Given the description of an element on the screen output the (x, y) to click on. 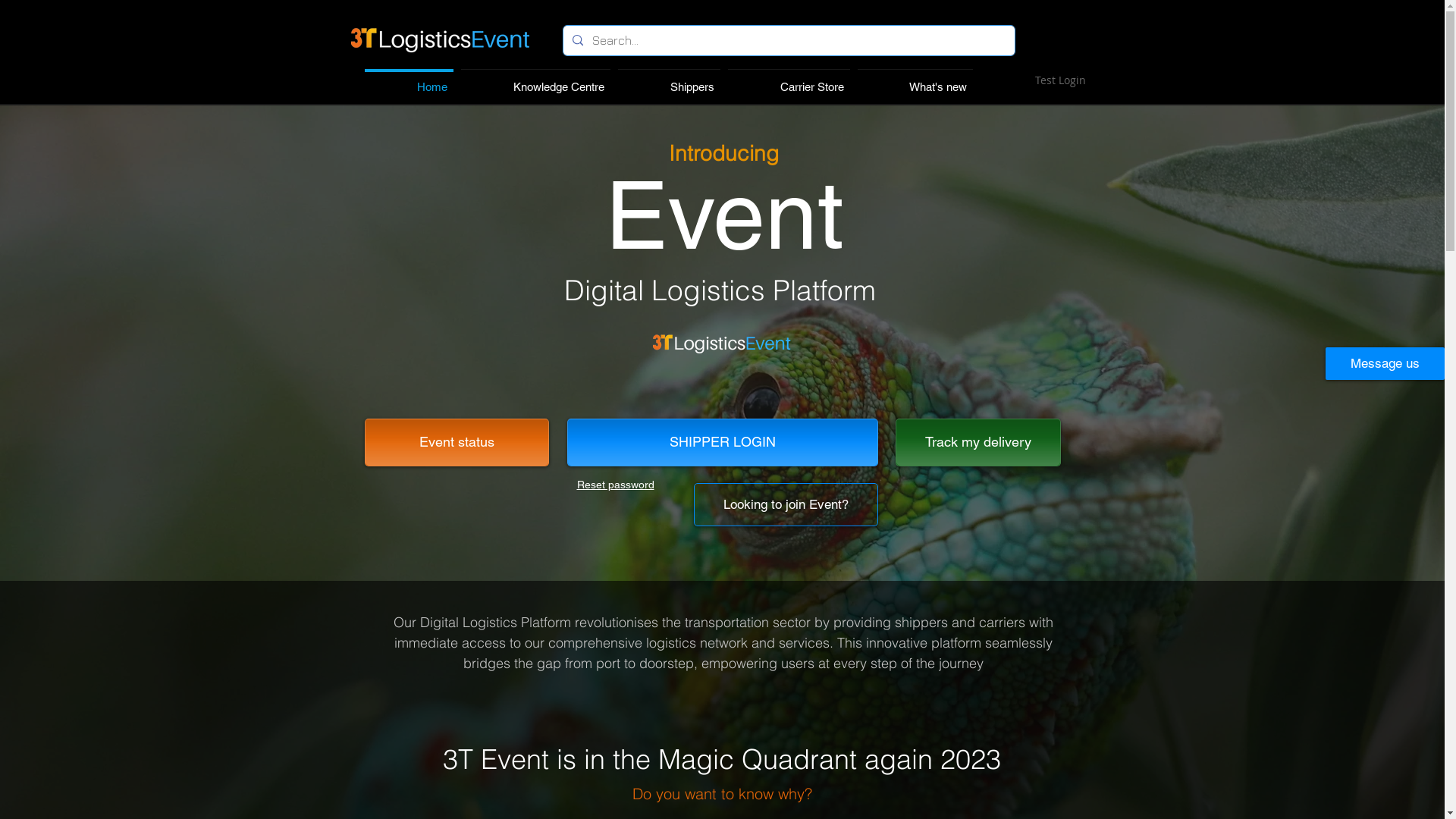
Message us Element type: text (1384, 363)
Home Element type: text (408, 80)
Track my delivery Element type: text (977, 442)
Looking to join Event? Element type: text (785, 504)
What's new Element type: text (914, 80)
Event status Element type: text (456, 442)
SHIPPER LOGIN Element type: text (722, 442)
Reset password Element type: text (614, 484)
Test Login Element type: text (1059, 80)
